Given the description of an element on the screen output the (x, y) to click on. 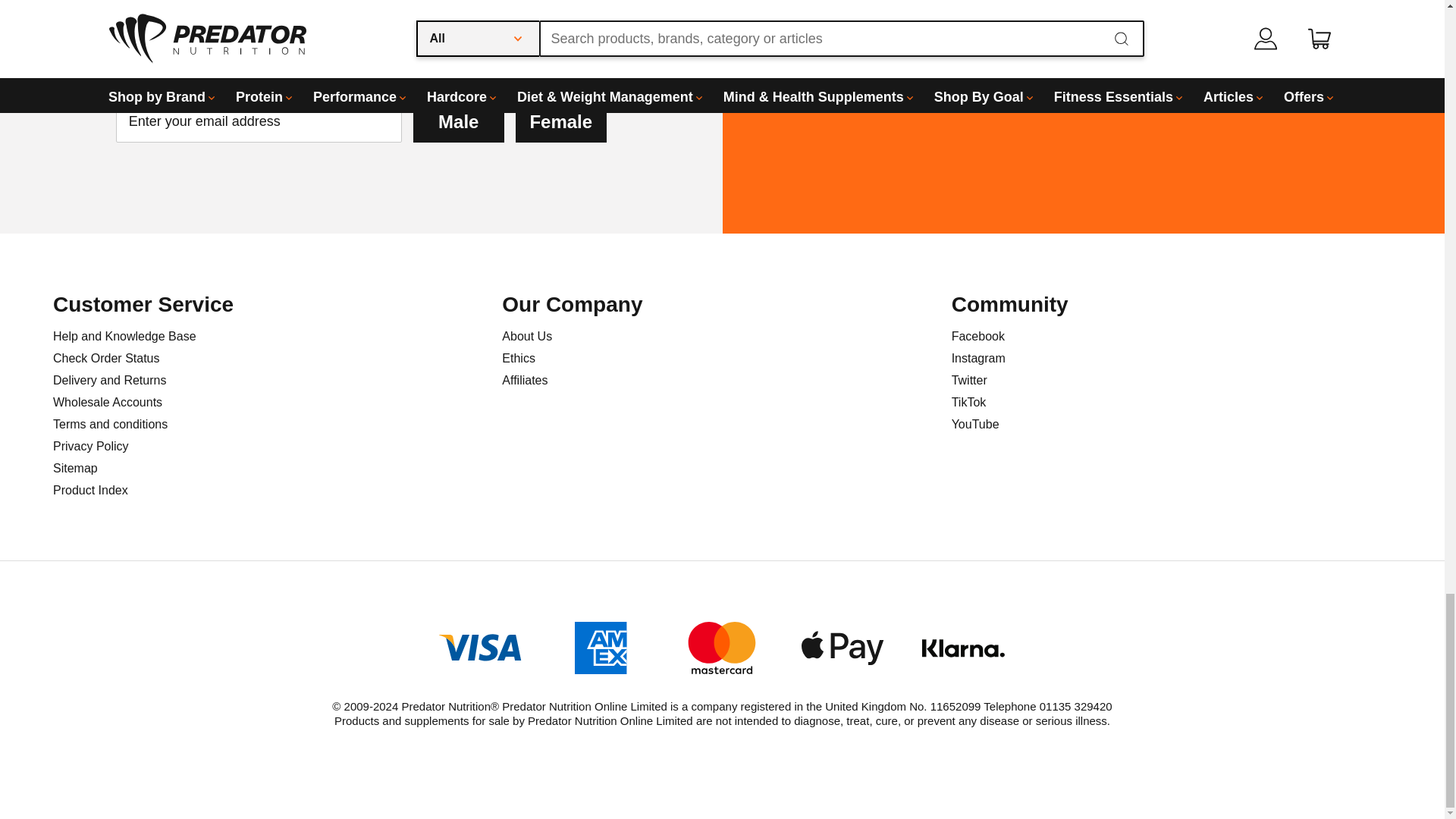
Male (458, 120)
Female (561, 120)
